Given the description of an element on the screen output the (x, y) to click on. 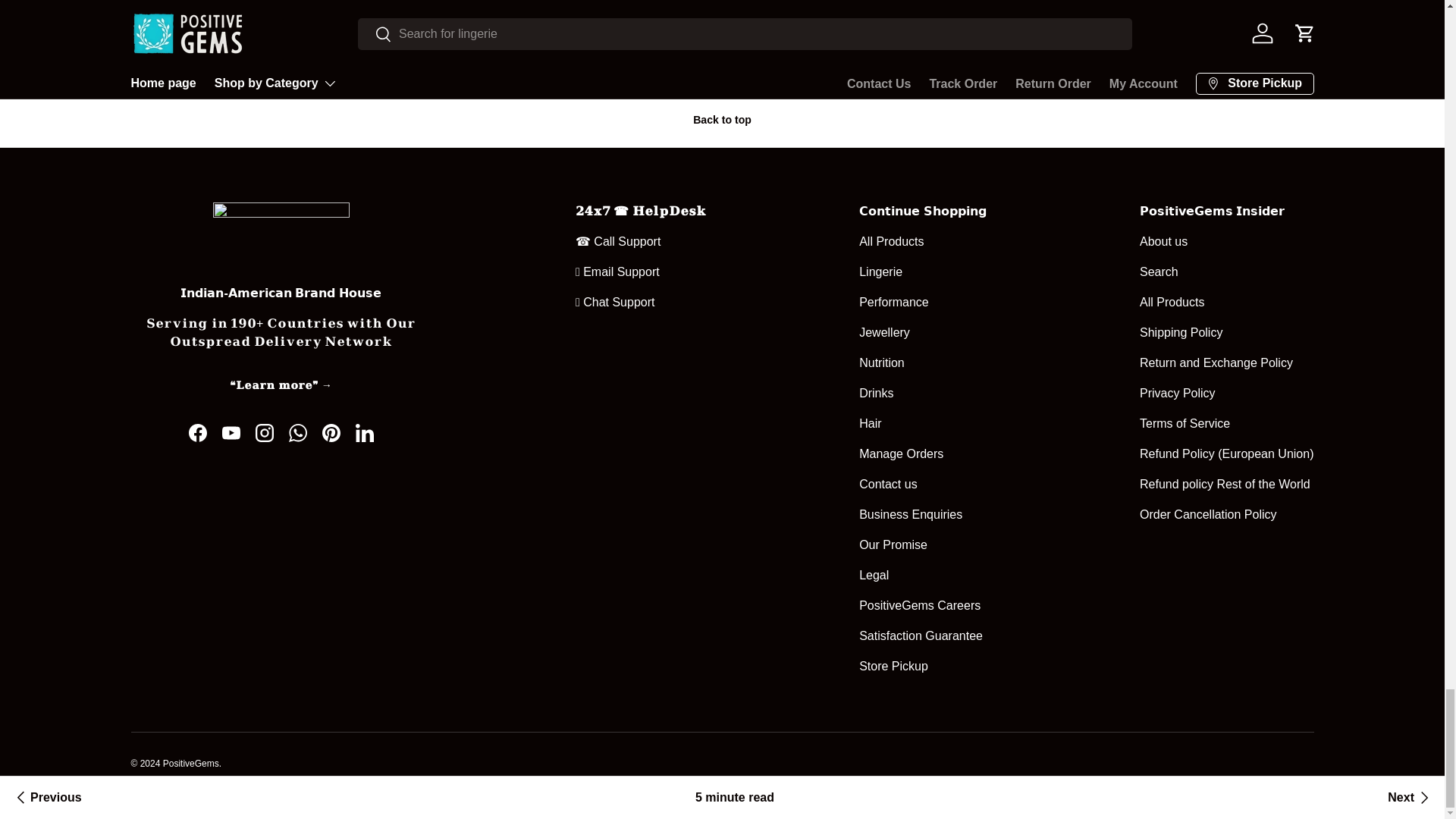
PositiveGems on LinkedIn (363, 432)
PositiveGems on Instagram (264, 432)
PositiveGems on YouTube (230, 432)
PositiveGems on Pinterest (330, 432)
PositiveGems on Facebook (197, 432)
PositiveGems on WhatsApp (297, 432)
